Given the description of an element on the screen output the (x, y) to click on. 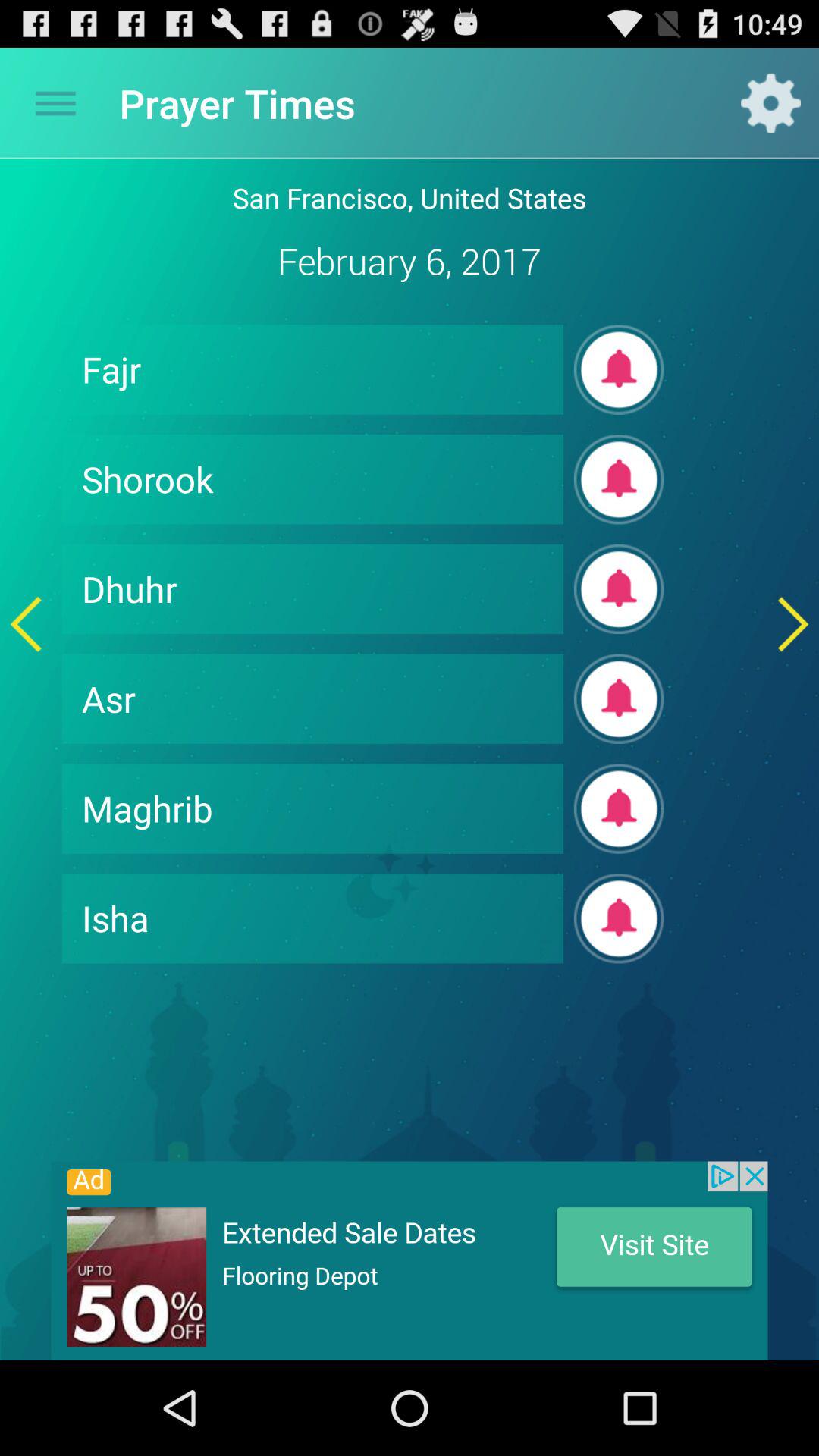
alarm box (618, 698)
